Given the description of an element on the screen output the (x, y) to click on. 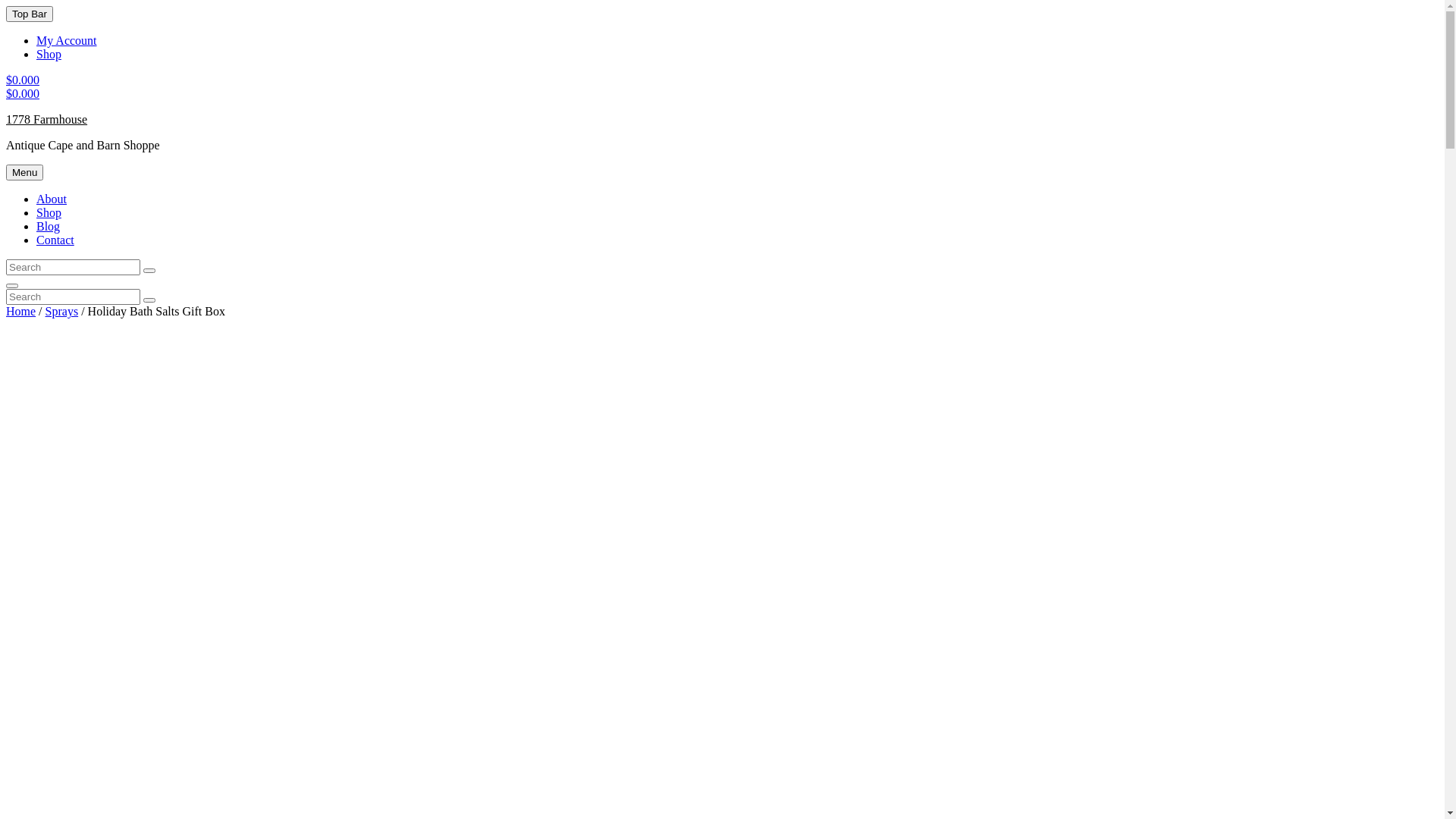
$0.000 Element type: text (22, 79)
Skip to content Element type: text (5, 5)
Search Element type: text (149, 300)
$0.000 Element type: text (22, 93)
Search Element type: text (149, 270)
About Element type: text (51, 198)
Home Element type: text (20, 310)
Top Bar Element type: text (29, 13)
1778 Farmhouse Element type: text (46, 118)
My Account Element type: text (66, 40)
Shop Element type: text (48, 53)
Menu Element type: text (24, 172)
Shop Element type: text (48, 212)
Search Element type: text (12, 285)
Sprays Element type: text (61, 310)
Blog Element type: text (47, 225)
Contact Element type: text (55, 239)
